Given the description of an element on the screen output the (x, y) to click on. 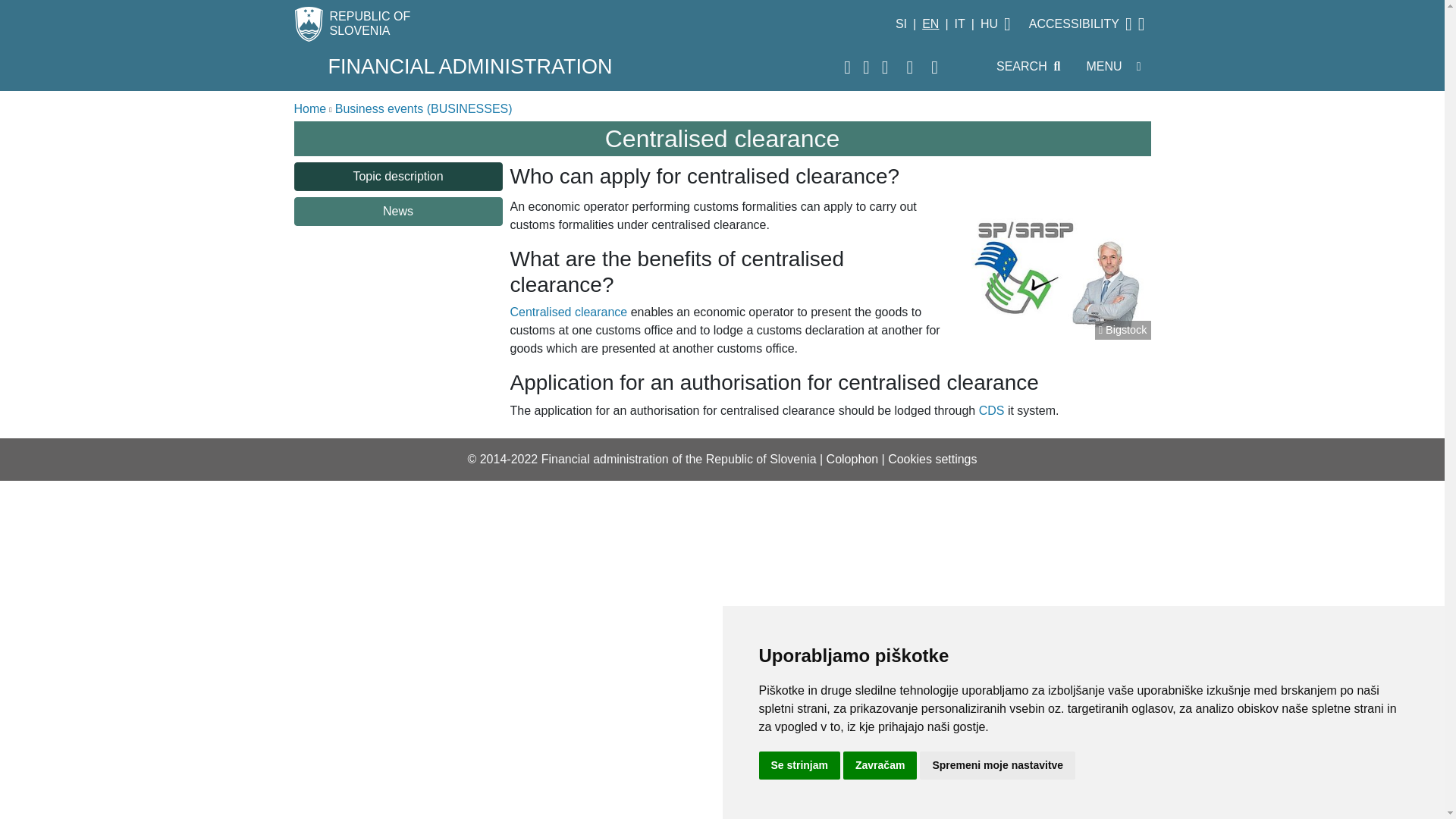
SEARCH   (1028, 66)
Skip to content (5, 2)
Magyar (988, 24)
EN (943, 24)
CDS (991, 410)
Cookies settings (932, 459)
REPUBLIC OF SLOVENIA (601, 23)
Home (310, 108)
Topic description (398, 176)
FINANCIAL ADMINISTRATION (580, 66)
English (930, 24)
Colophon content (853, 459)
Centralised clearance (568, 311)
MENU   (1113, 66)
ACCESSIBILITY (1096, 24)
